Given the description of an element on the screen output the (x, y) to click on. 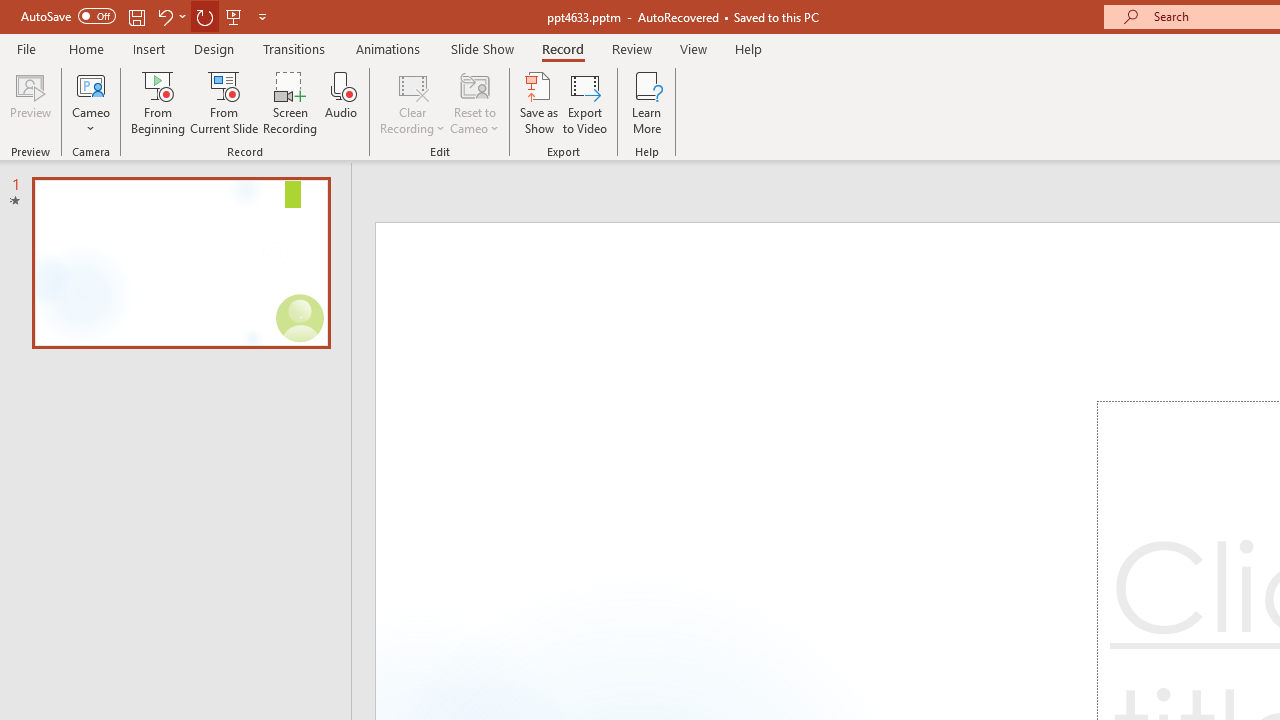
Slide Show (481, 48)
Reset to Cameo (474, 102)
Review (631, 48)
Animations (388, 48)
More Options (91, 121)
Design (214, 48)
Insert (149, 48)
Redo (204, 15)
From Current Slide... (224, 102)
System (10, 11)
Cameo (91, 84)
Export to Video (585, 102)
Clear Recording (412, 102)
AutoSave (68, 16)
